Given the description of an element on the screen output the (x, y) to click on. 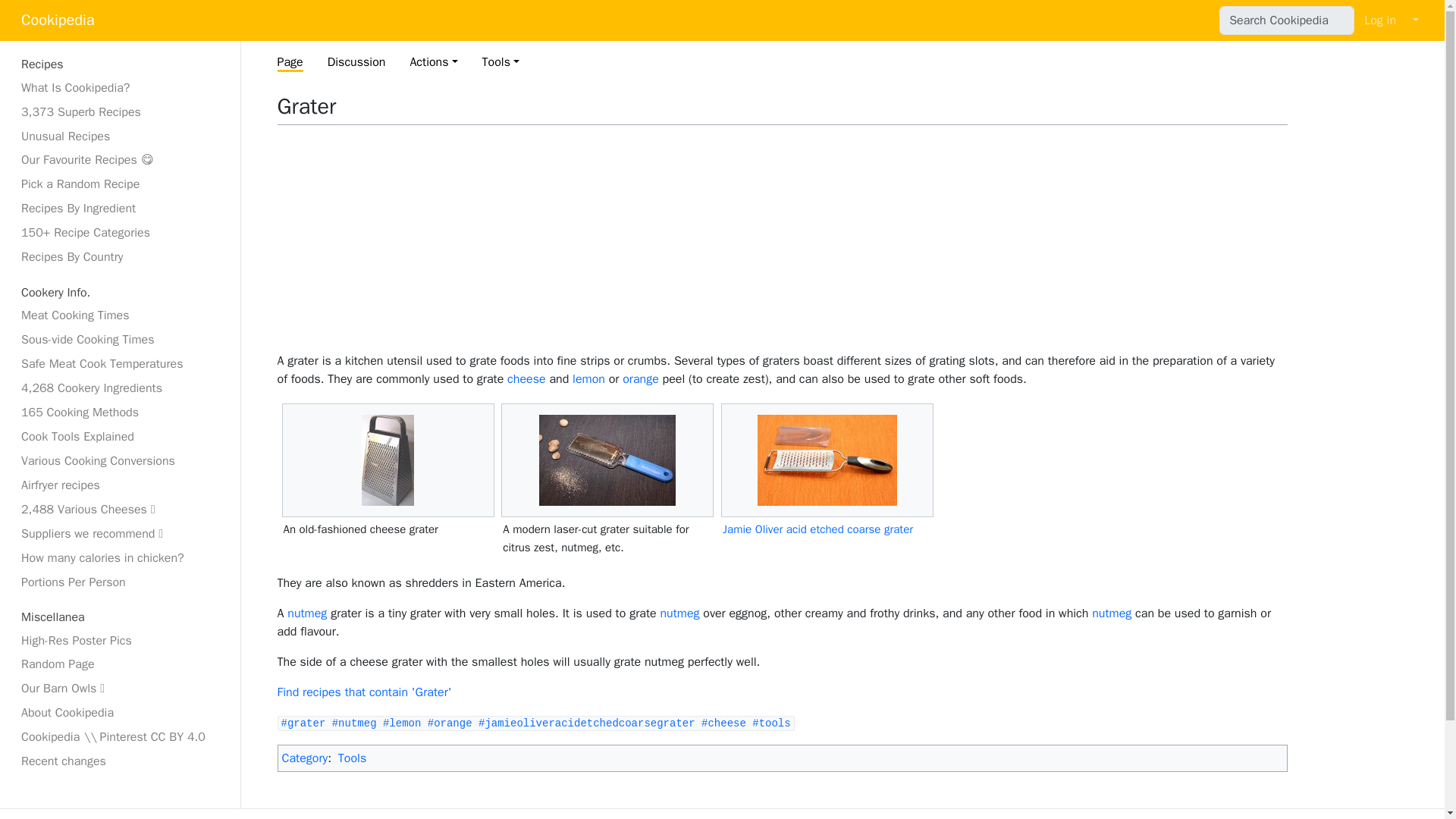
Safe Meat Cook Temperatures (119, 363)
Unusual Recipes (119, 135)
How many calories in chicken? (119, 558)
Cookery Info. (119, 292)
Recipes (119, 64)
Actions (433, 61)
About Cookipedia (119, 712)
Recent changes (119, 761)
Orange (641, 378)
Recipes By Ingredient (119, 208)
Meat Cooking Times (119, 314)
Discussion (356, 61)
Cook Tools Explained (119, 436)
165 Cooking Methods (119, 412)
Sous-vide Cooking Times (119, 339)
